Given the description of an element on the screen output the (x, y) to click on. 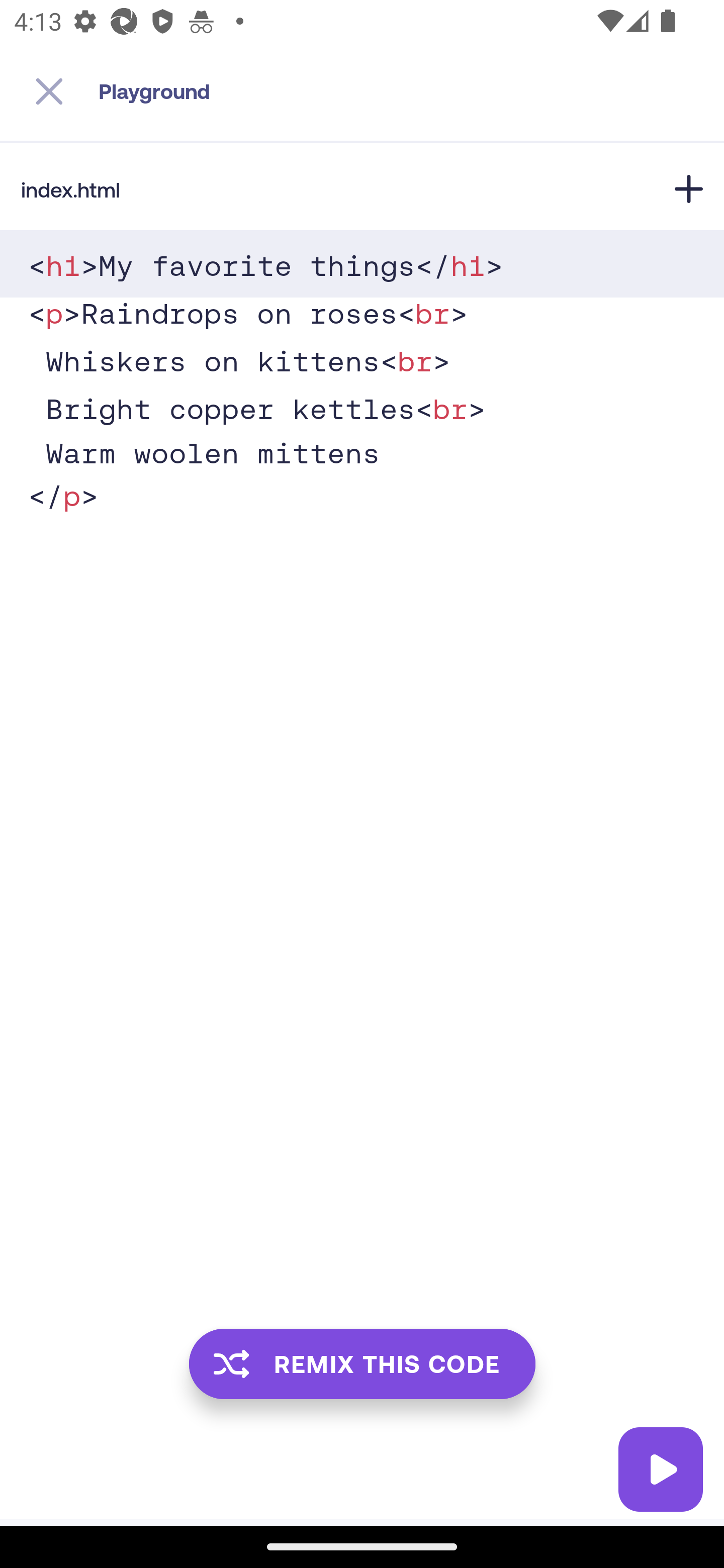
Navigate up (49, 91)
Playground (411, 91)
REMIX THIS CODE (361, 1363)
Run (660, 1468)
